Given the description of an element on the screen output the (x, y) to click on. 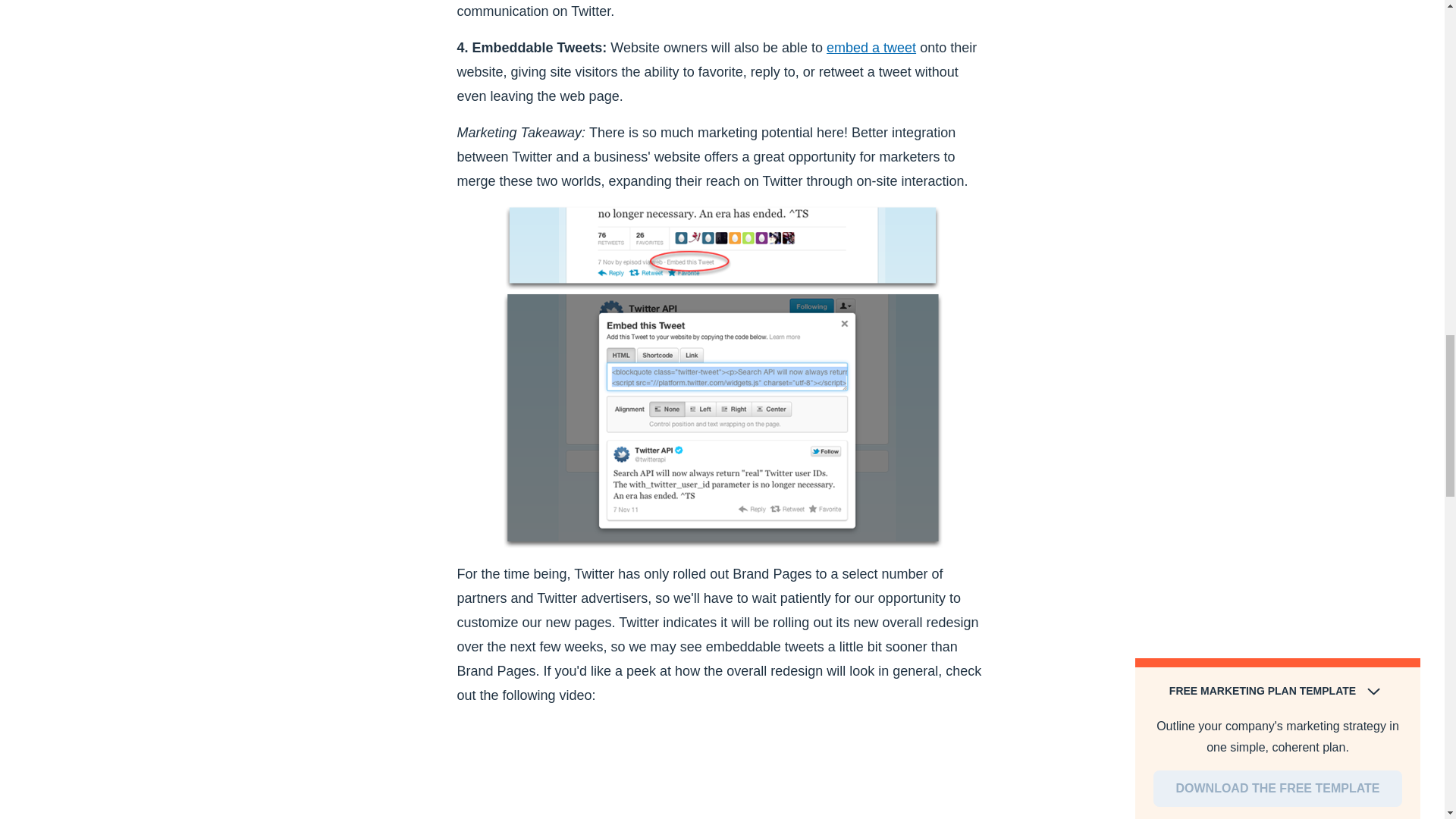
embed a tweet (871, 47)
